Given the description of an element on the screen output the (x, y) to click on. 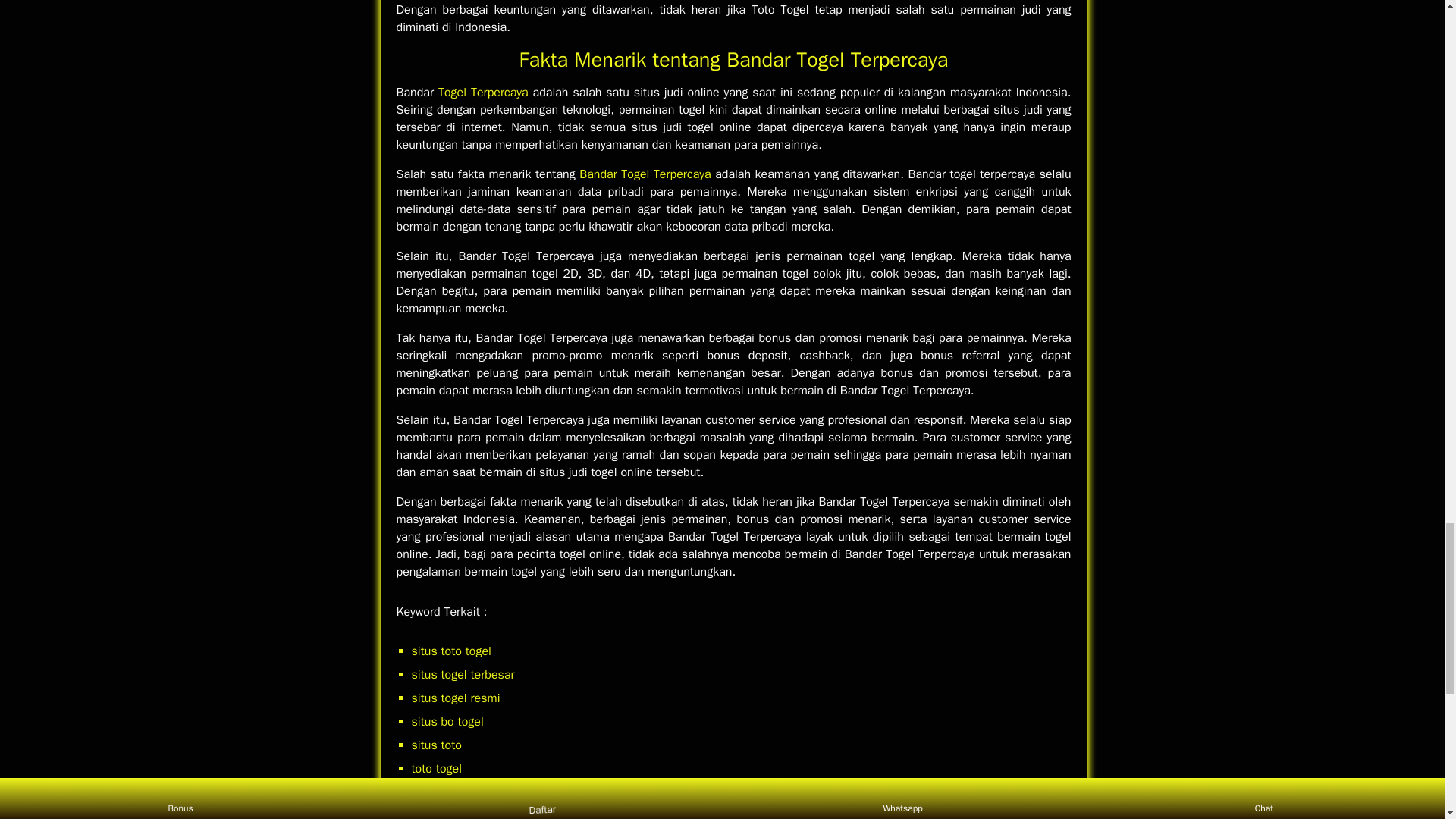
Togel Terpercaya (483, 92)
Bandar Togel Terpercaya (644, 174)
